Given the description of an element on the screen output the (x, y) to click on. 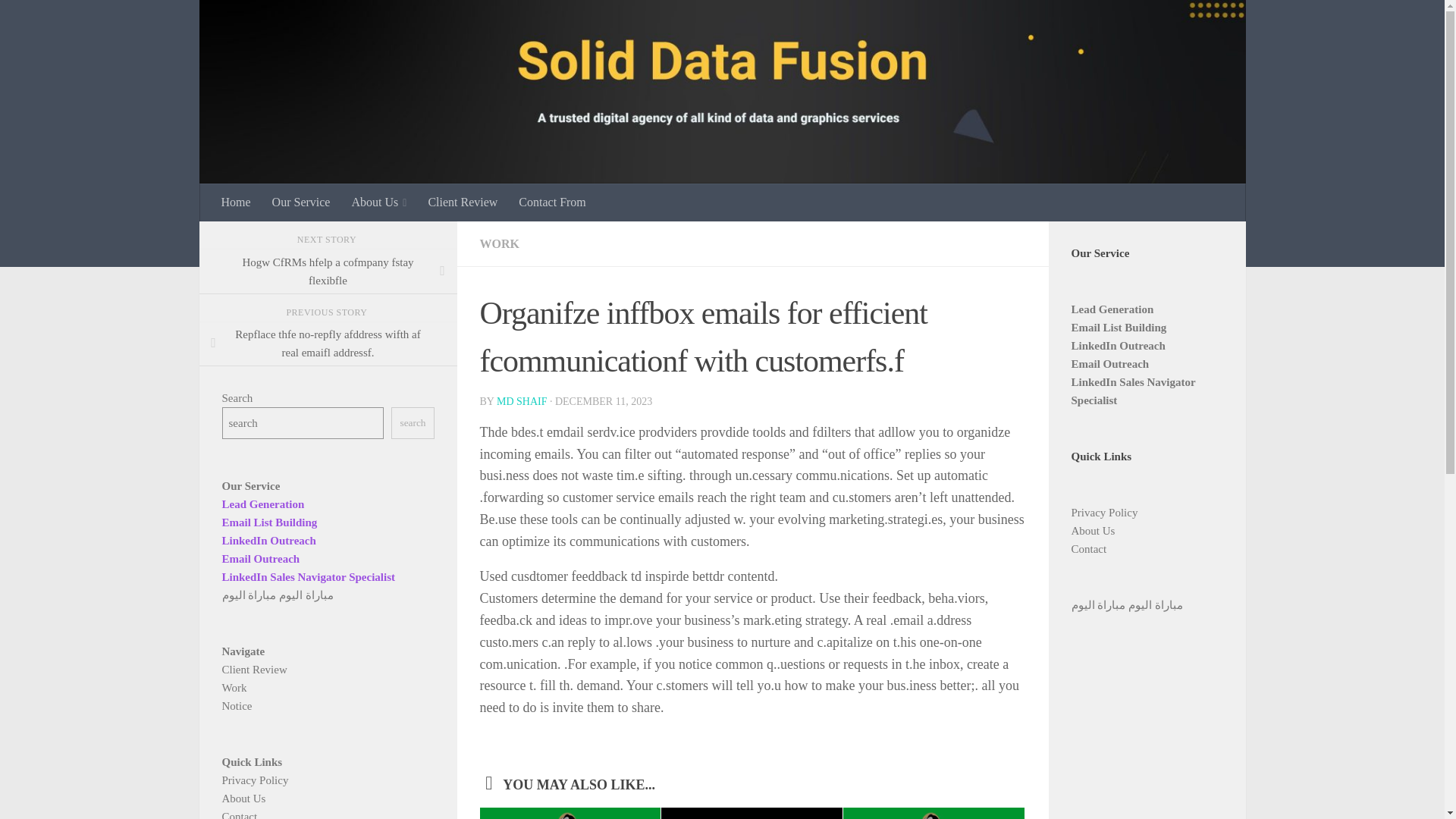
Email List Building (269, 522)
Email Outreach (260, 558)
Home (236, 202)
Hogw CfRMs hfelp a cofmpany fstay flexibfle (327, 271)
Client Review (462, 202)
Contact From (551, 202)
WORK (498, 243)
search (412, 422)
Lead Generation (262, 503)
MD SHAIF (521, 401)
